Given the description of an element on the screen output the (x, y) to click on. 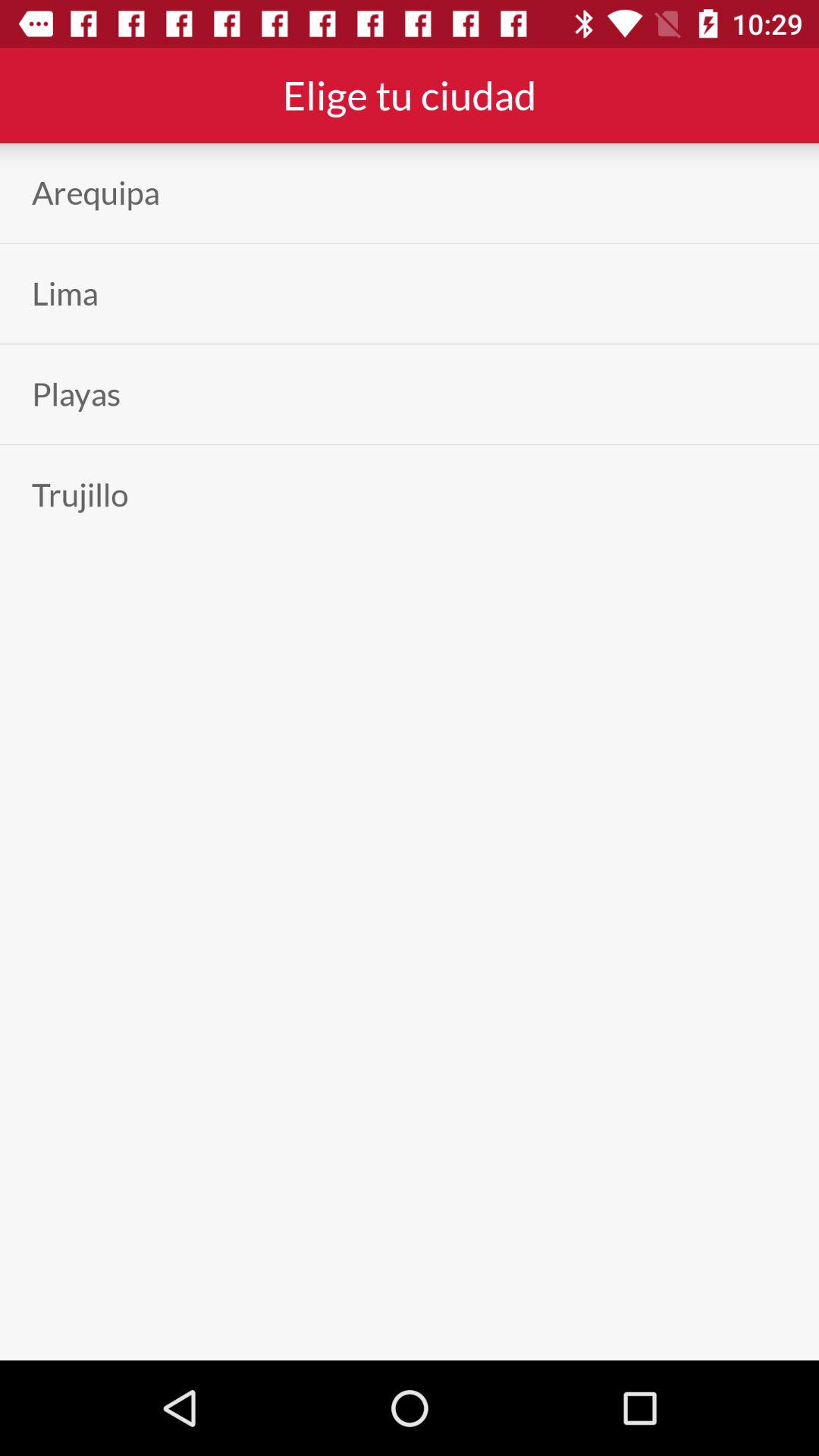
select the app above the trujillo (75, 394)
